Given the description of an element on the screen output the (x, y) to click on. 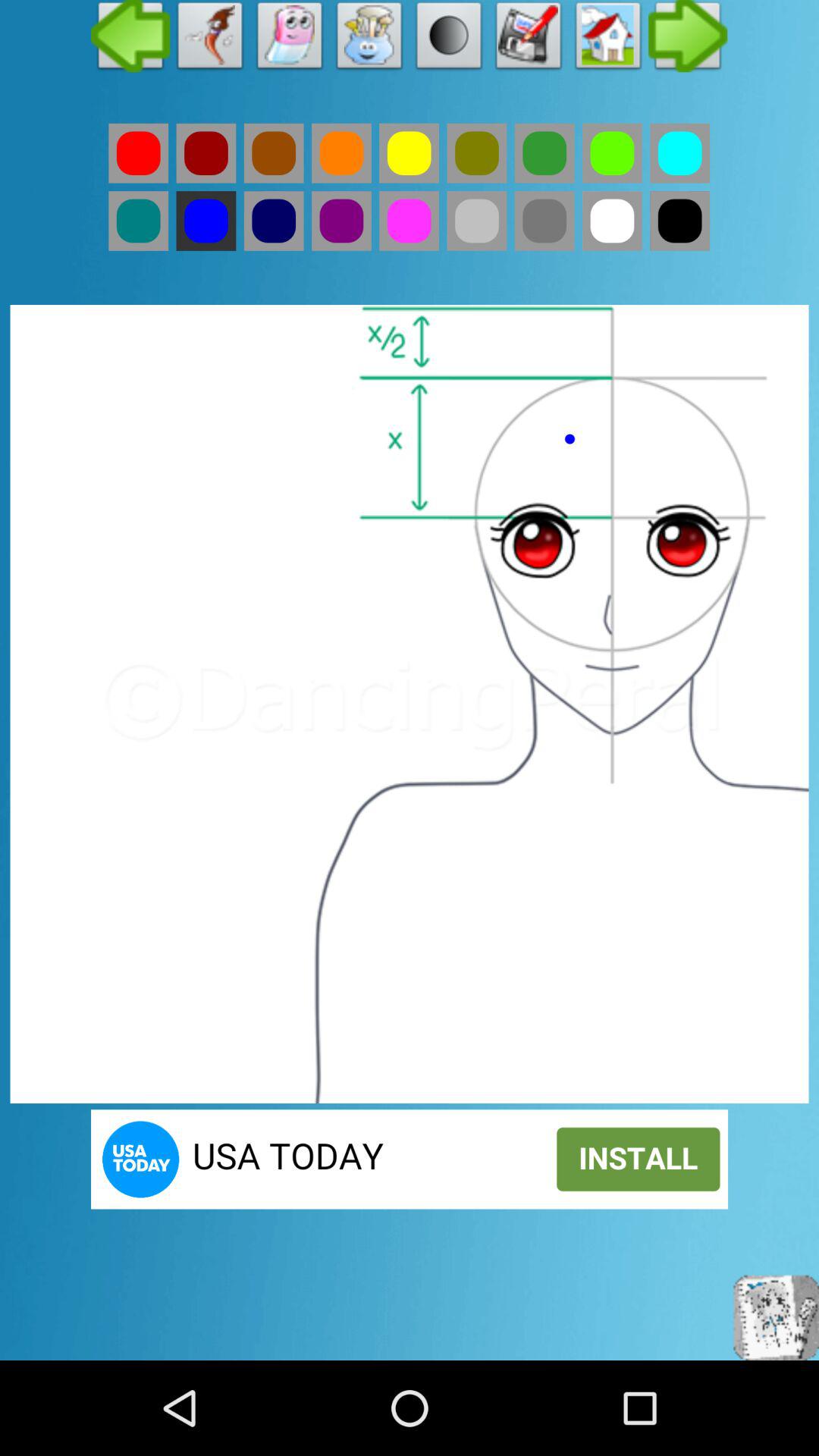
in app advertisement (409, 1159)
